Given the description of an element on the screen output the (x, y) to click on. 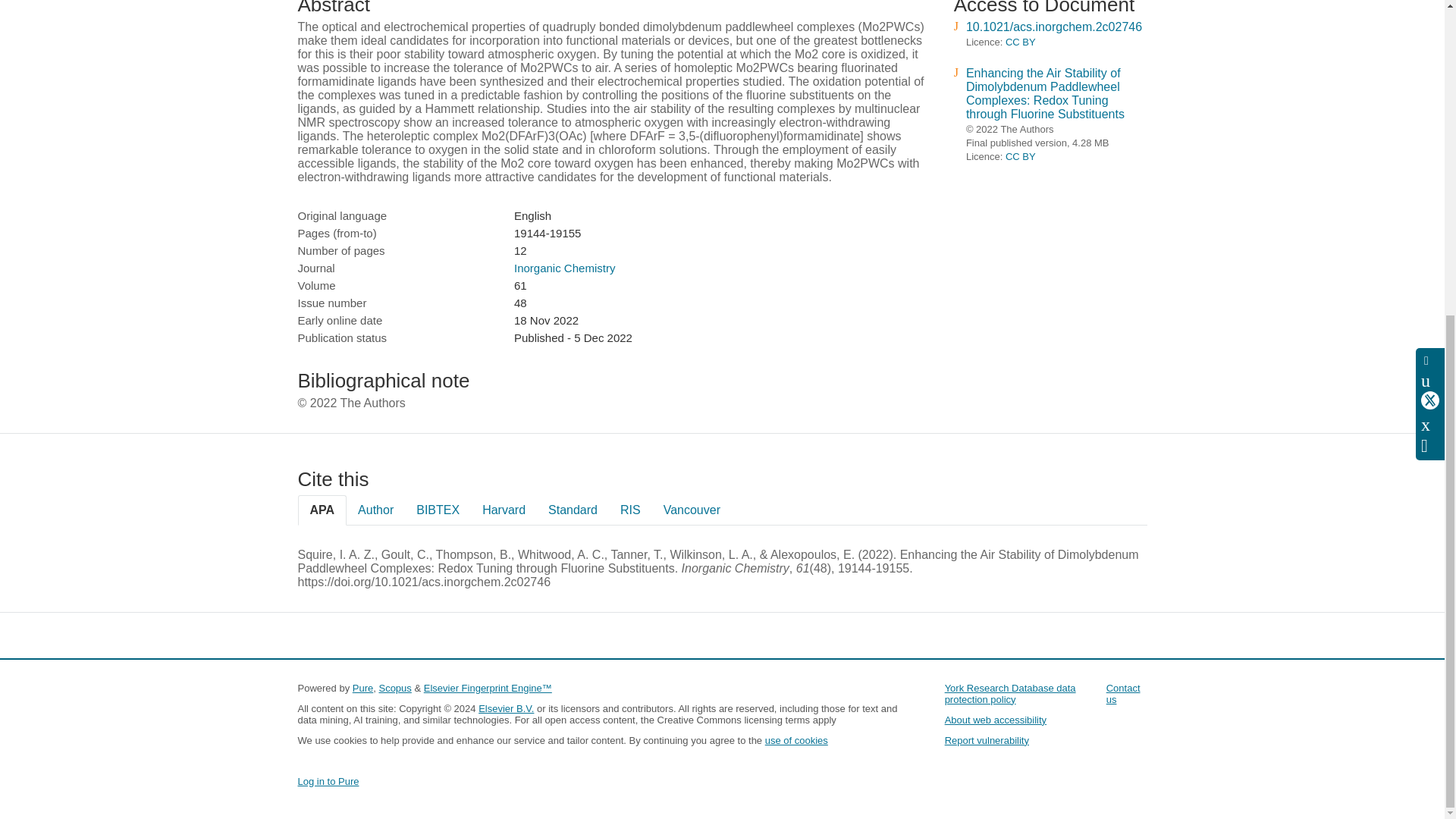
Elsevier B.V. (506, 708)
Log in to Pure (327, 781)
Contact us (1123, 693)
Scopus (394, 687)
Inorganic Chemistry (563, 267)
use of cookies (796, 740)
Report vulnerability (986, 740)
Pure (362, 687)
About web accessibility (995, 719)
